Given the description of an element on the screen output the (x, y) to click on. 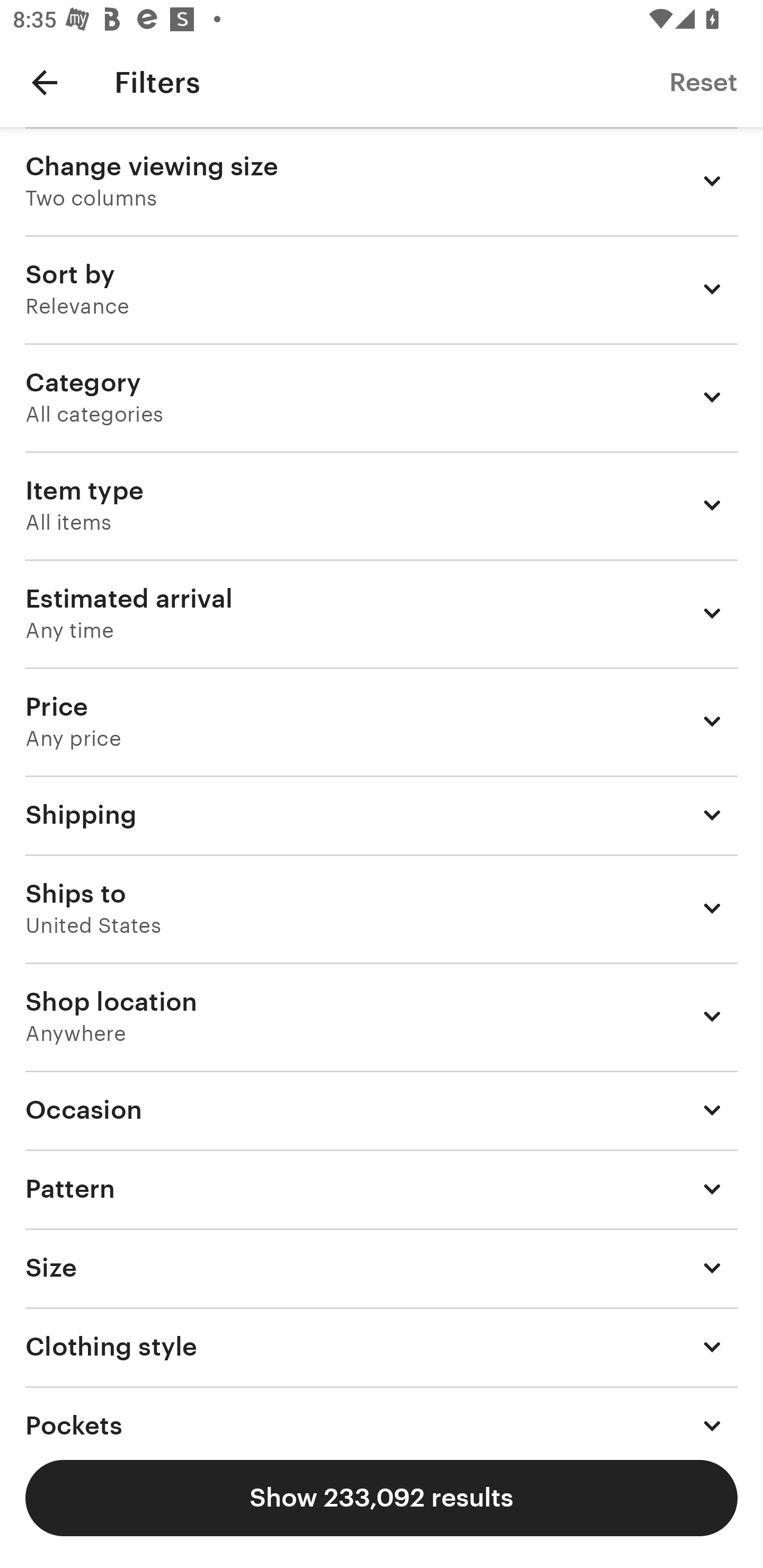
Navigate up (44, 82)
Reset (703, 81)
Change viewing size Two columns (381, 181)
Sort by Relevance (381, 289)
Category All categories (381, 397)
Item type All items (381, 505)
Estimated arrival Any time (381, 613)
Price Any price (381, 721)
Shipping (381, 815)
Ships to United States (381, 908)
Shop location Anywhere (381, 1016)
Occasion (381, 1109)
Pattern (381, 1188)
Size (381, 1267)
Clothing style (381, 1346)
Pockets (381, 1410)
Show 233,092 results Show results (381, 1497)
